Given the description of an element on the screen output the (x, y) to click on. 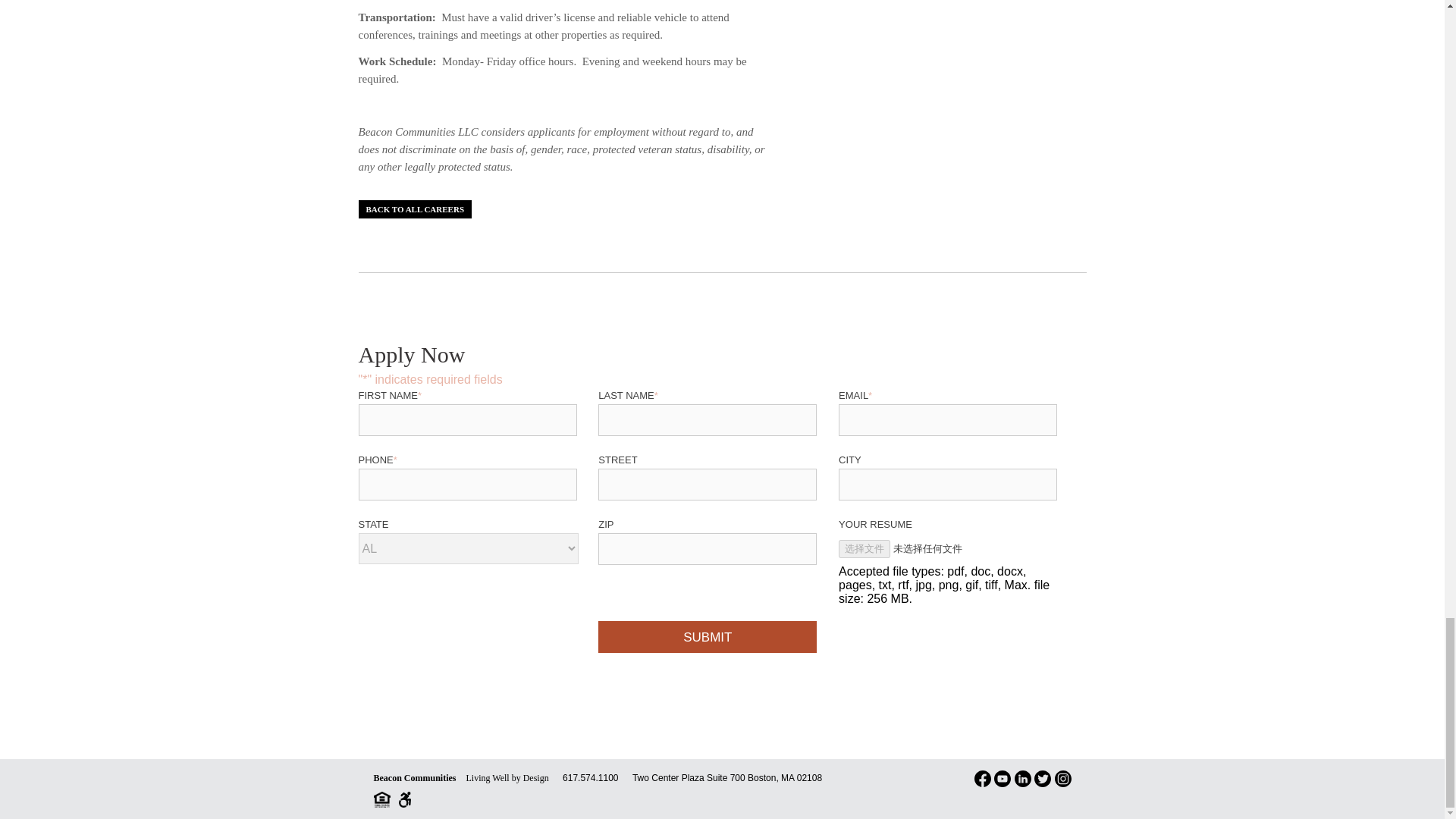
BACK TO ALL CAREERS (414, 209)
Submit (707, 636)
Submit (707, 636)
